Given the description of an element on the screen output the (x, y) to click on. 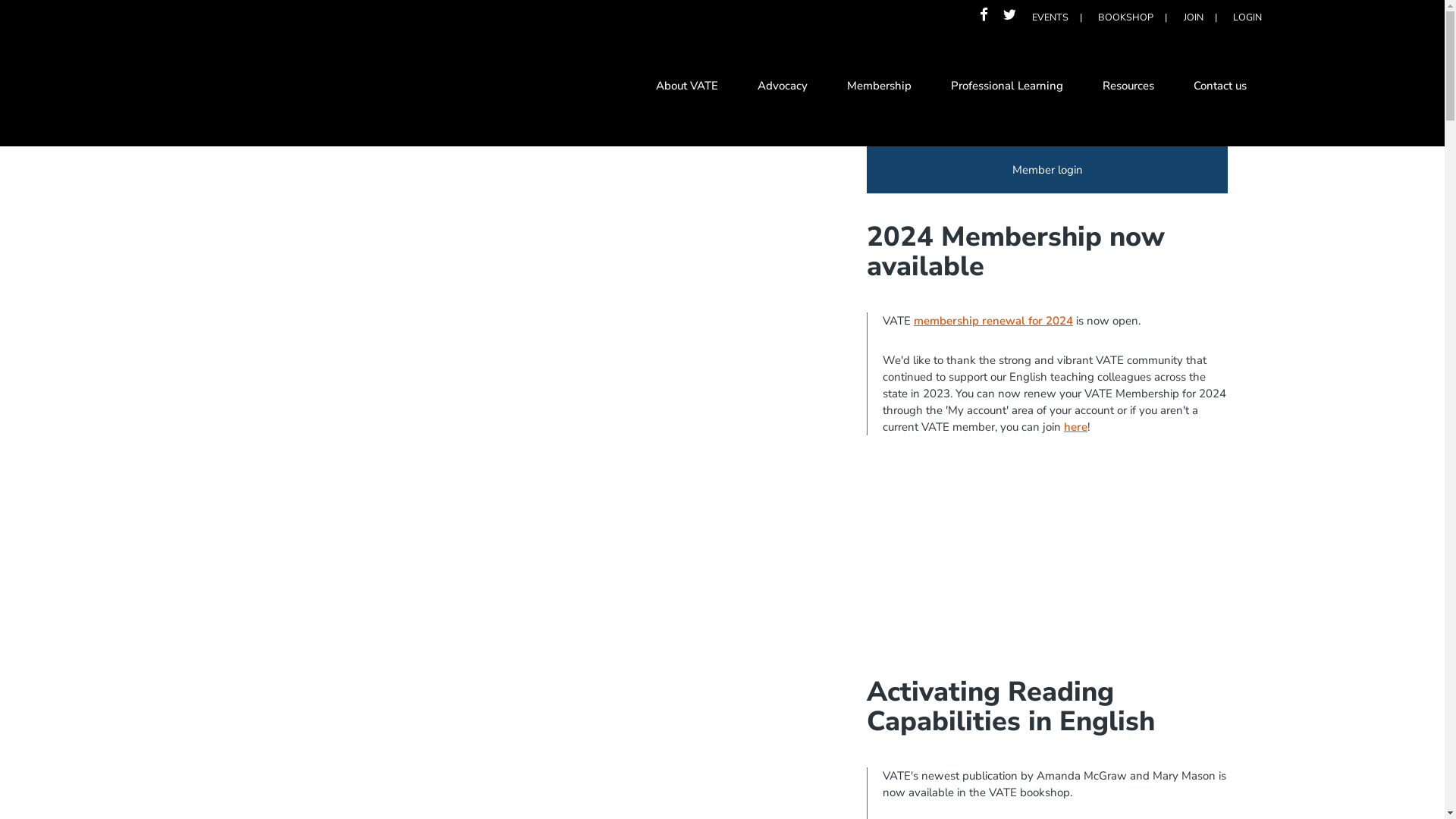
here Element type: text (1075, 426)
Contact us Element type: text (1219, 87)
Skip to main content Element type: text (50, 0)
Membership Element type: text (879, 87)
membership renewal for 2024 Element type: text (993, 320)
EVENTS Element type: text (1049, 17)
VATE Element type: text (321, 89)
JOIN Element type: text (1193, 17)
LOGIN Element type: text (1247, 17)
Member login Element type: text (1046, 169)
Professional Learning Element type: text (1006, 87)
BOOKSHOP Element type: text (1125, 17)
Resources Element type: text (1127, 87)
About VATE Element type: text (686, 87)
Advocacy Element type: text (782, 87)
